Given the description of an element on the screen output the (x, y) to click on. 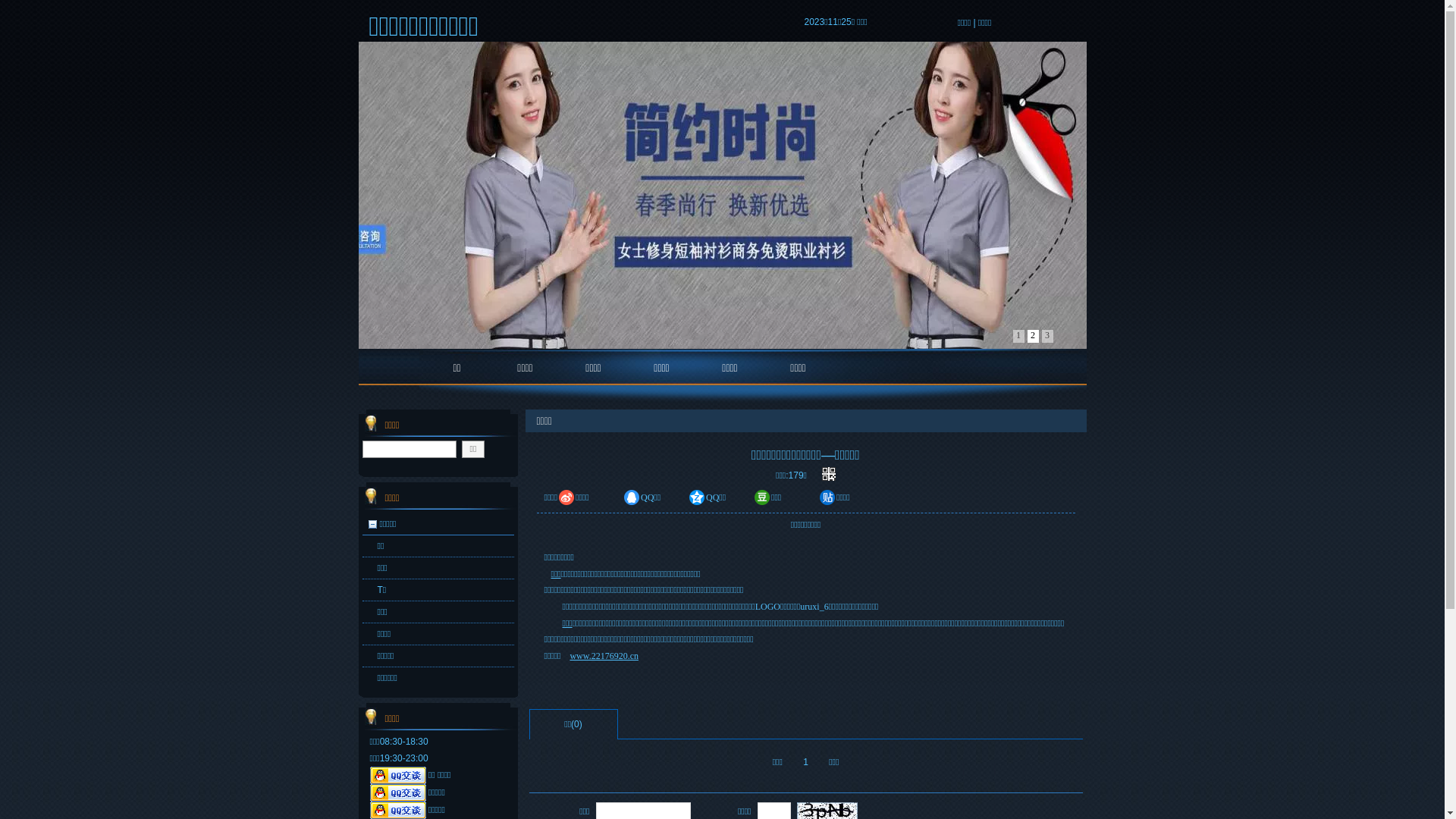
www.22176920.cn Element type: text (603, 655)
